Given the description of an element on the screen output the (x, y) to click on. 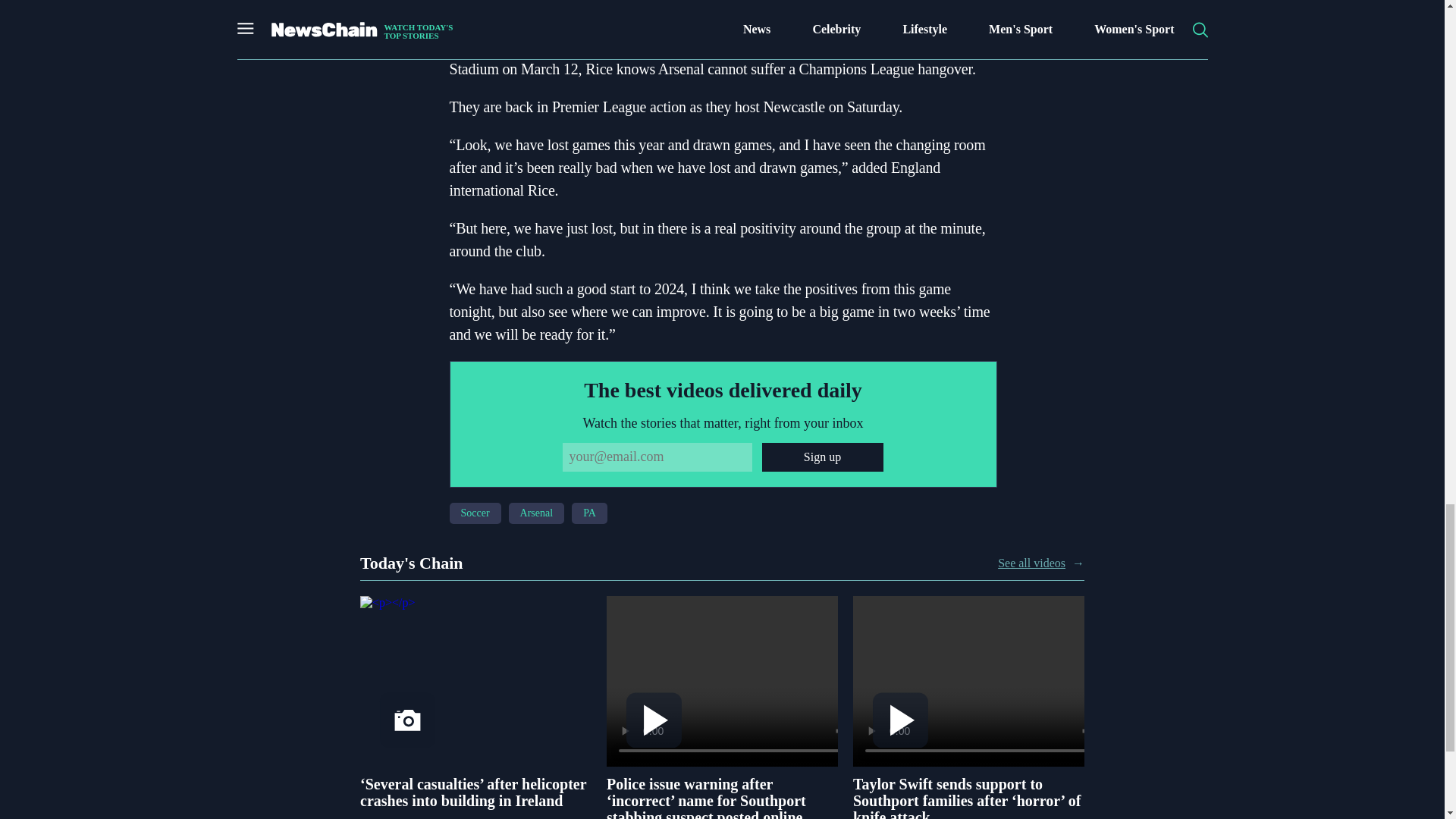
Arsenal (536, 513)
Soccer (474, 513)
See all videos (1031, 563)
PA (589, 513)
Sign up (822, 457)
Sign up (822, 457)
